Given the description of an element on the screen output the (x, y) to click on. 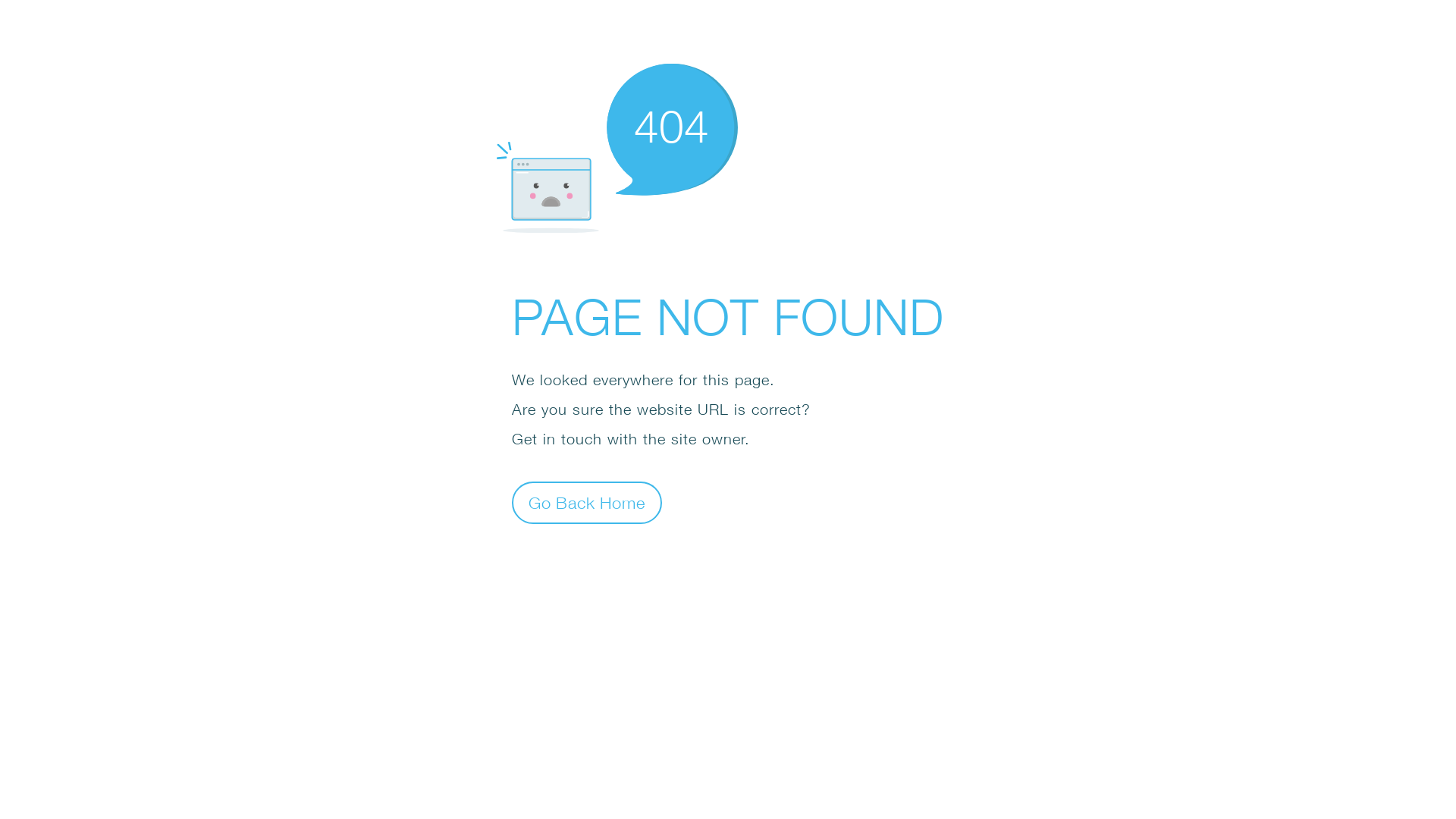
Go Back Home Element type: text (586, 502)
